Given the description of an element on the screen output the (x, y) to click on. 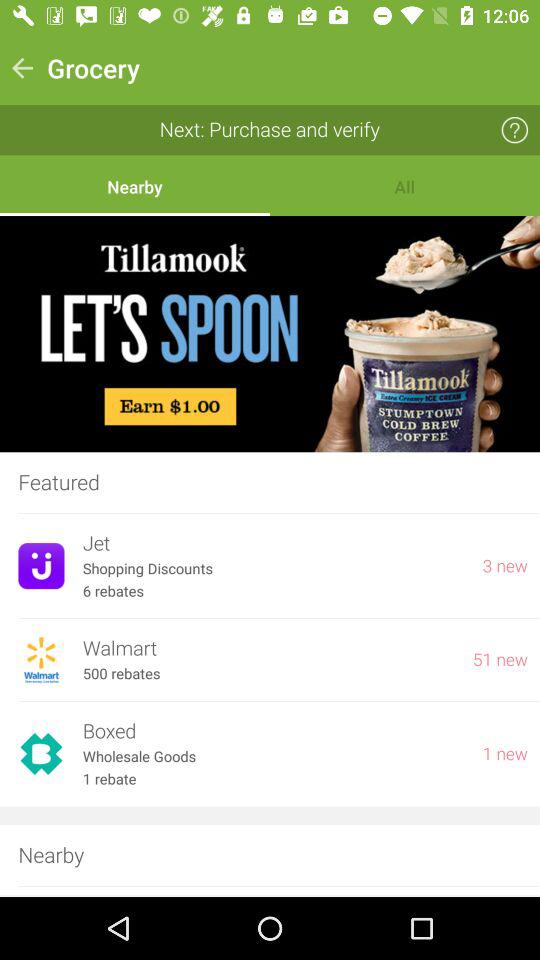
turn on icon next to the 1 new item (273, 756)
